Given the description of an element on the screen output the (x, y) to click on. 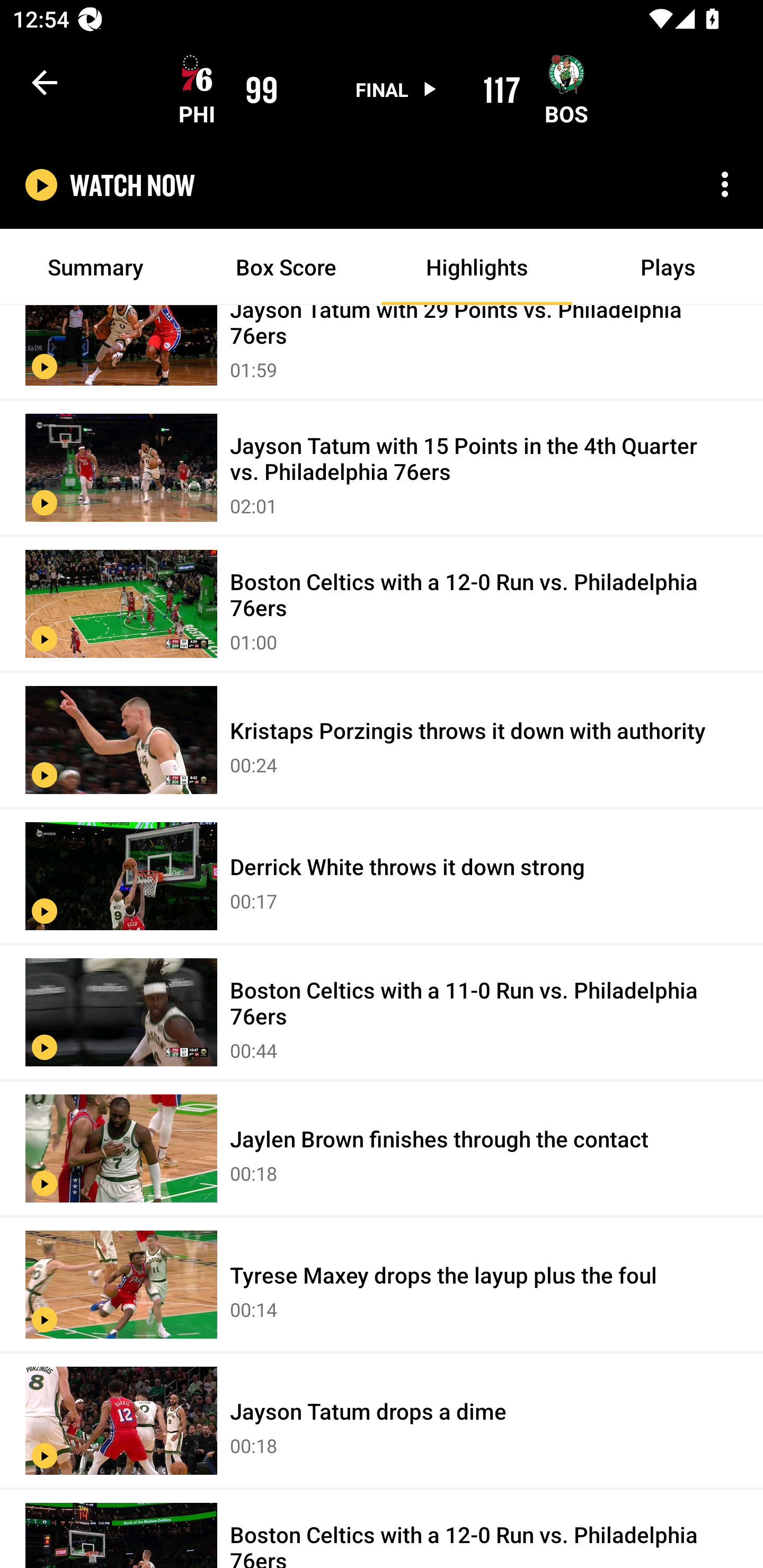
Navigate up (44, 82)
More options (724, 183)
WATCH NOW (132, 184)
Summary (95, 266)
Box Score (285, 266)
Plays (667, 266)
Derrick White throws it down strong 00:17 (381, 876)
Jaylen Brown finishes through the contact 00:18 (381, 1148)
Tyrese Maxey drops the layup plus the foul 00:14 (381, 1285)
Jayson Tatum drops a dime 00:18 (381, 1421)
